Given the description of an element on the screen output the (x, y) to click on. 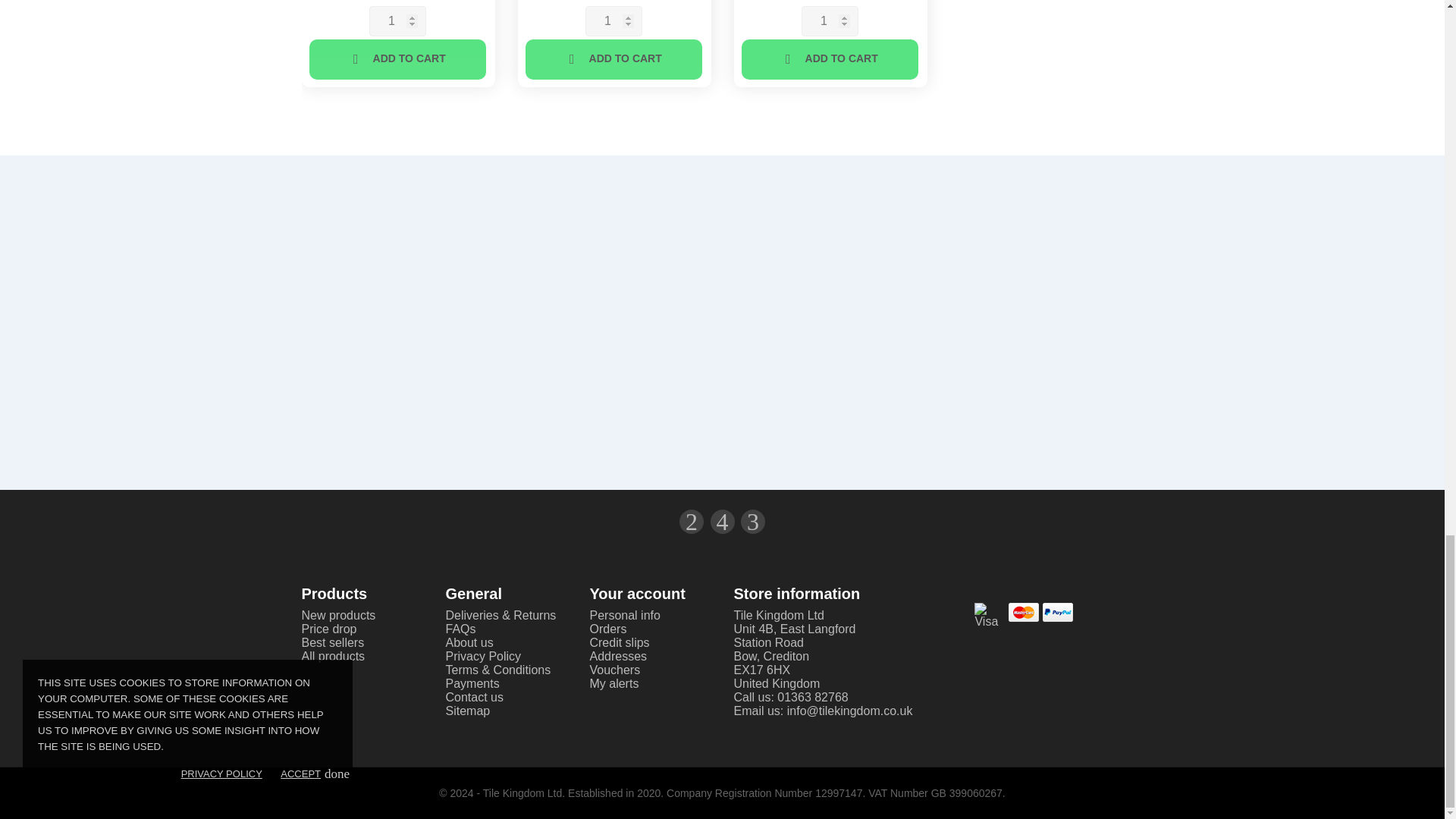
1 (828, 20)
1 (396, 20)
1 (613, 20)
